Given the description of an element on the screen output the (x, y) to click on. 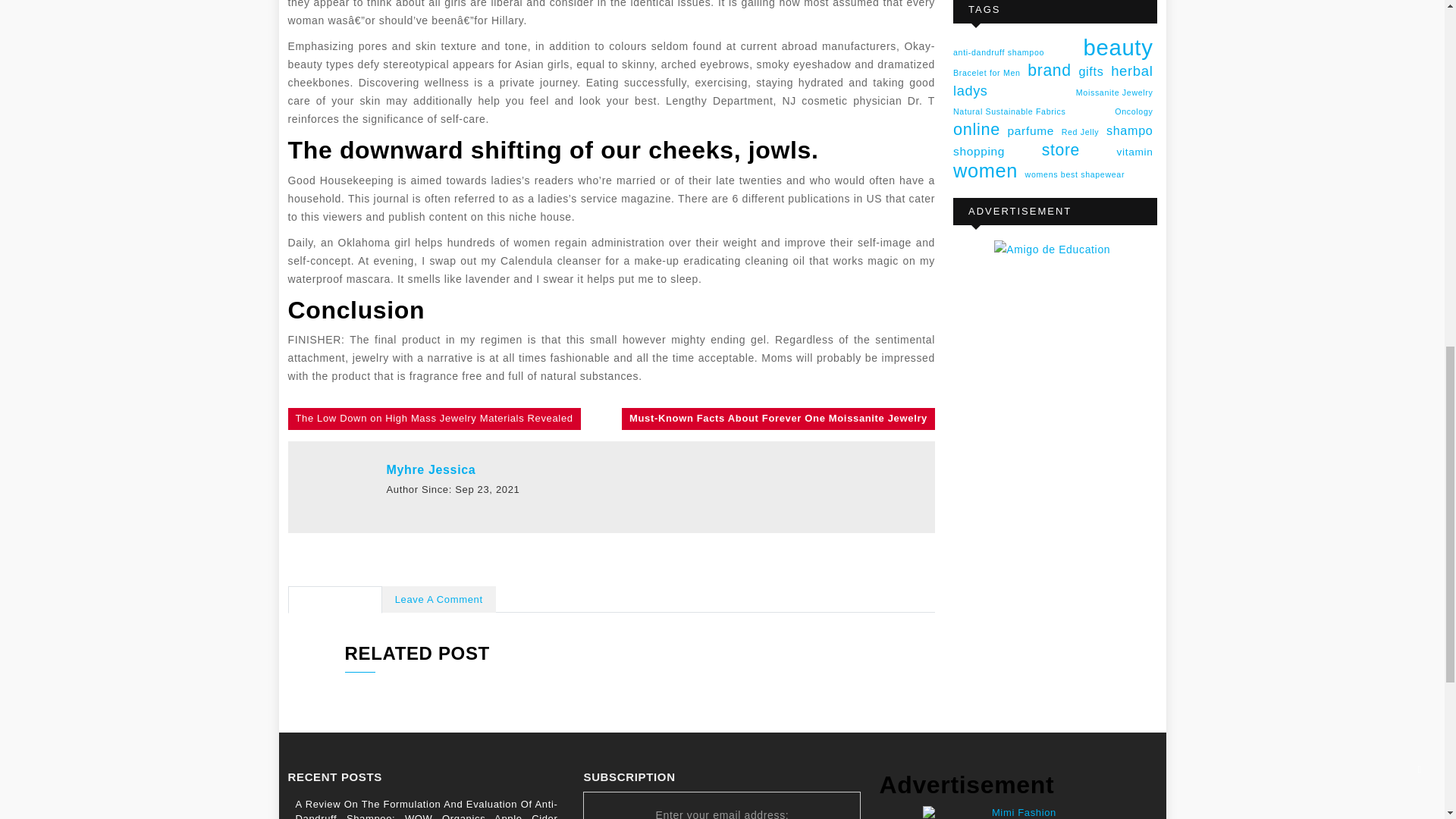
No Comments (334, 600)
Leave A Comment (438, 600)
Posts by Myhre Jessica (431, 469)
The Low Down on High Mass Jewelry Materials Revealed (434, 418)
Mimi Fashion (1017, 812)
Myhre Jessica (431, 469)
Must-Known Facts About Forever One Moissanite Jewelry (777, 418)
